Given the description of an element on the screen output the (x, y) to click on. 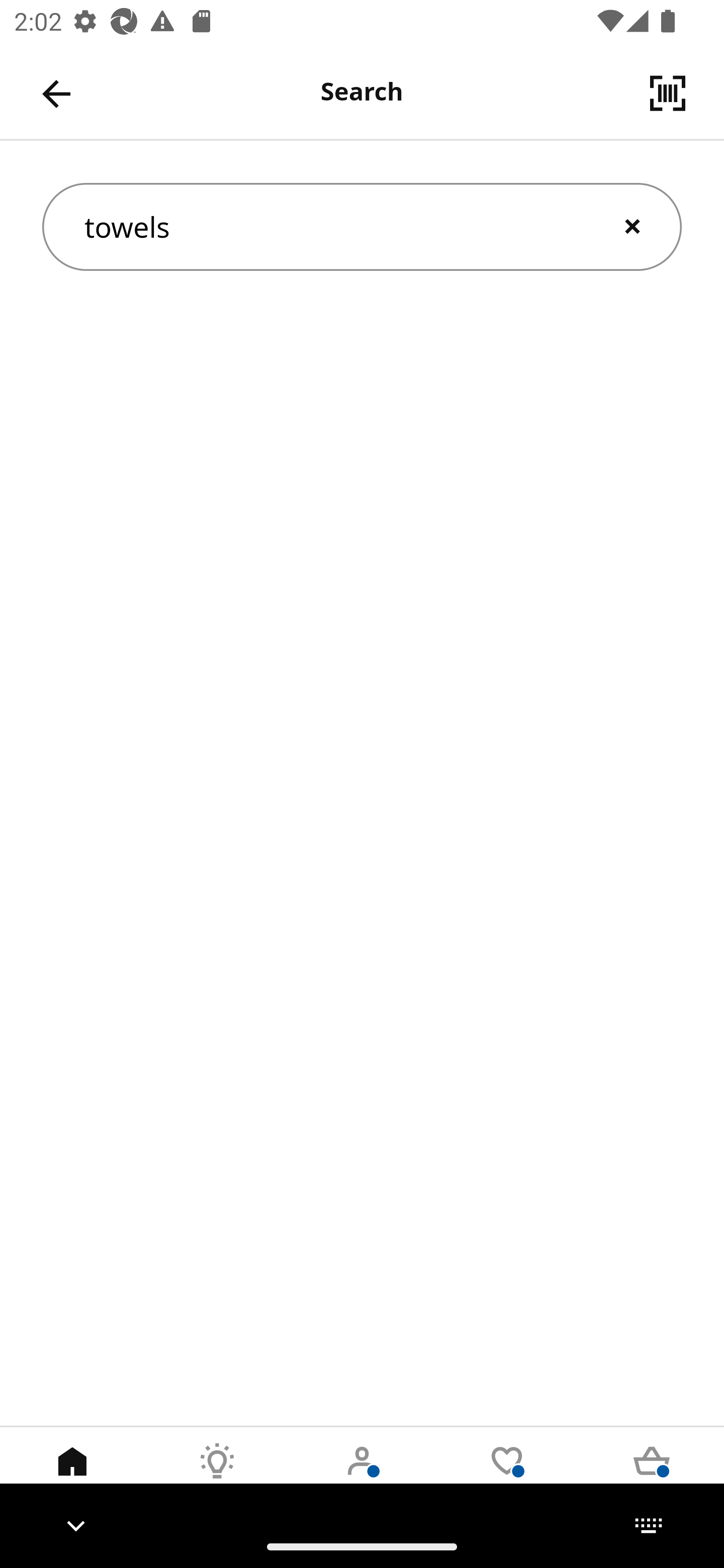
towels (361, 227)
Home
Tab 1 of 5 (72, 1476)
Inspirations
Tab 2 of 5 (216, 1476)
User
Tab 3 of 5 (361, 1476)
Wishlist
Tab 4 of 5 (506, 1476)
Cart
Tab 5 of 5 (651, 1476)
